Given the description of an element on the screen output the (x, y) to click on. 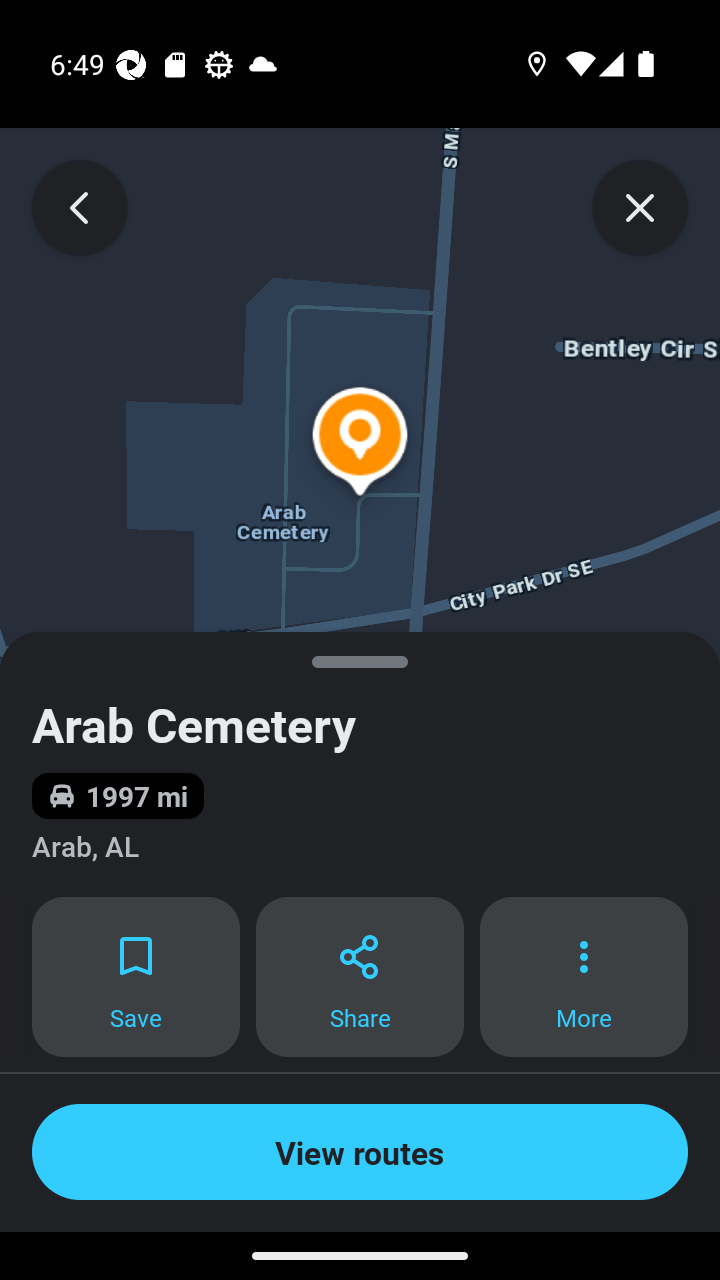
Arab Cemetery 1997 mi Arab, AL (360, 764)
Save (135, 977)
Share (359, 977)
More (584, 977)
View routes (359, 1151)
